Given the description of an element on the screen output the (x, y) to click on. 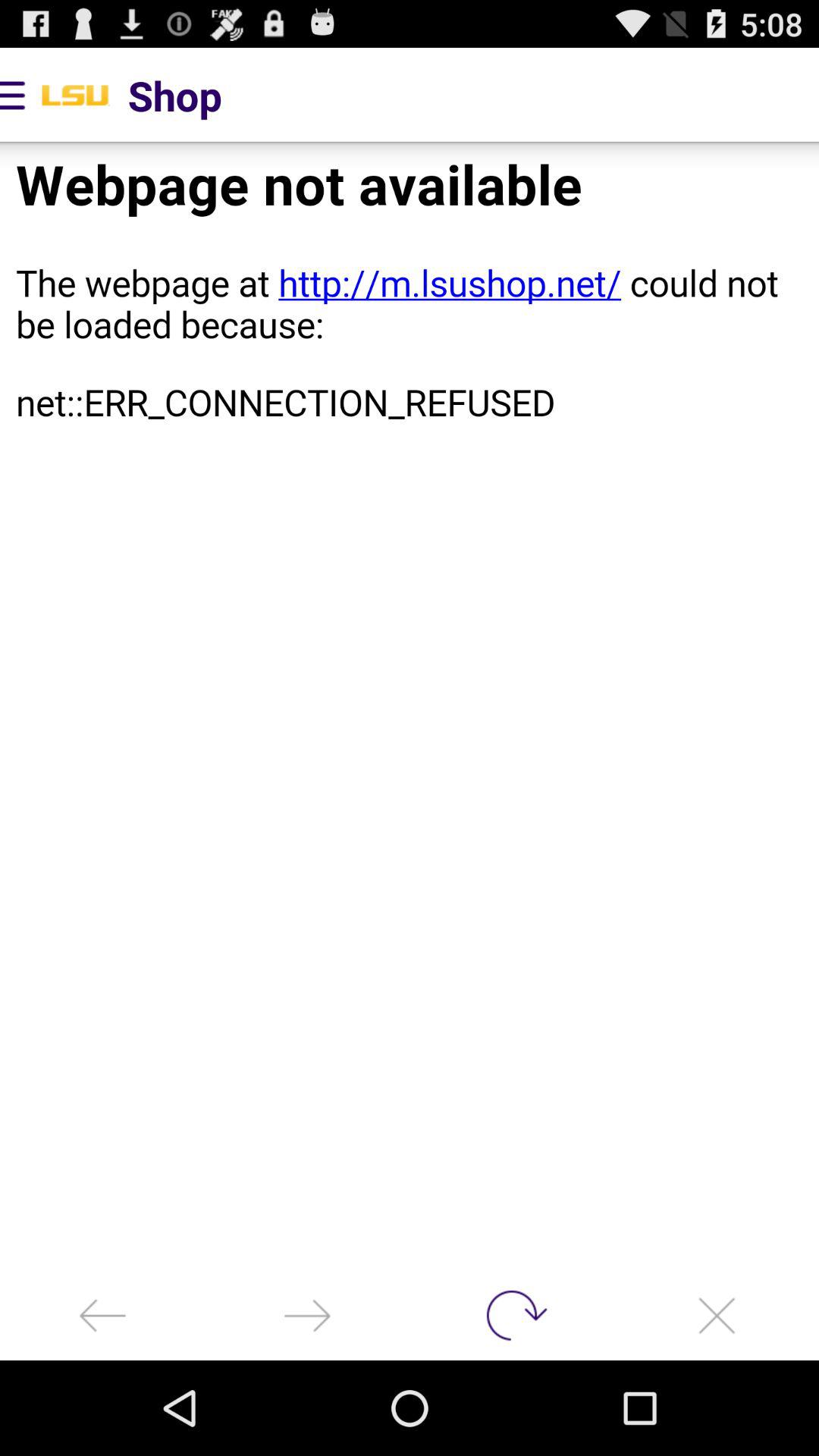
backwards (102, 1315)
